Given the description of an element on the screen output the (x, y) to click on. 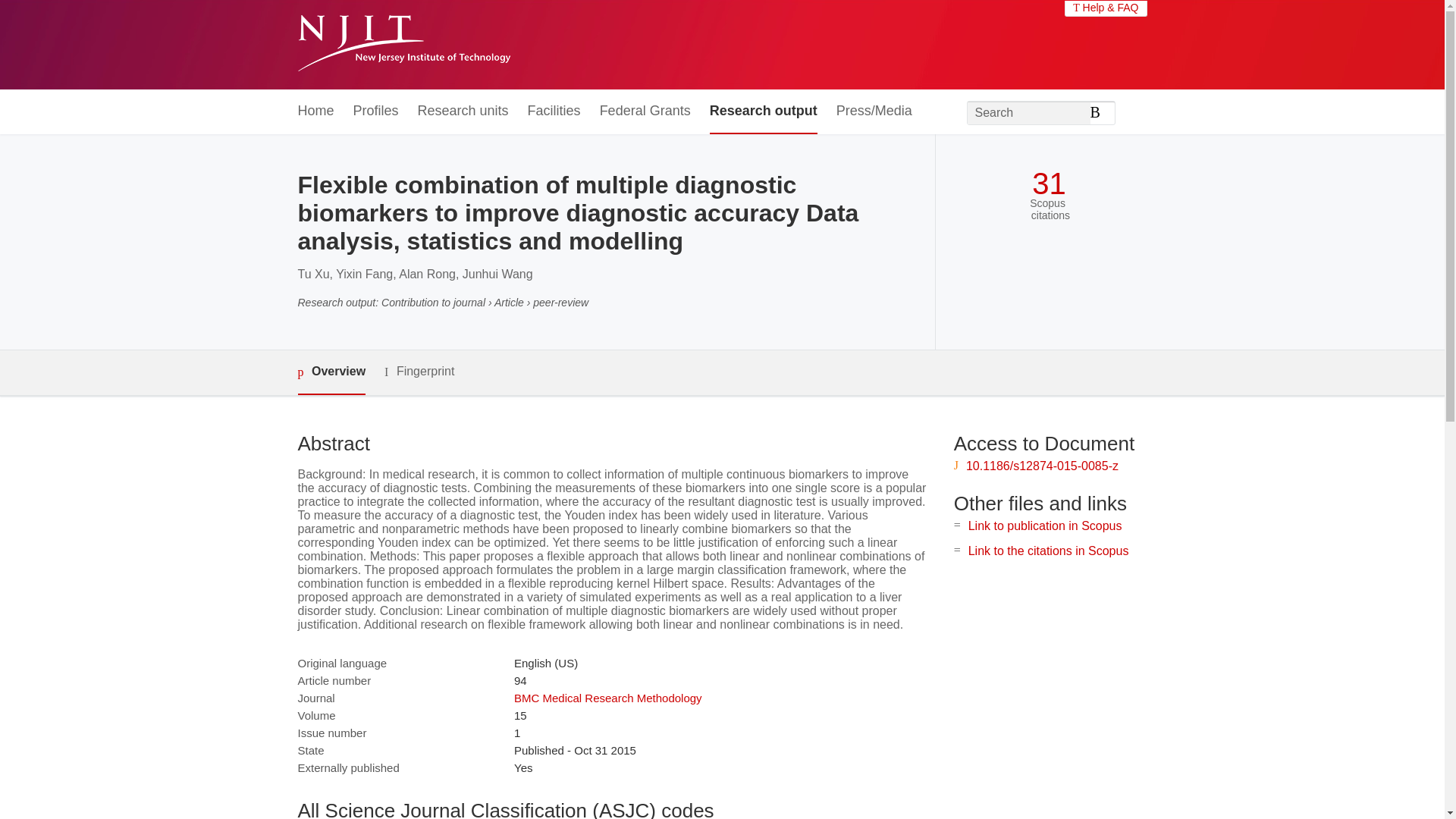
31 (1048, 183)
Research units (462, 111)
Federal Grants (644, 111)
Link to publication in Scopus (1045, 525)
Profiles (375, 111)
Facilities (553, 111)
Link to the citations in Scopus (1048, 550)
New Jersey Institute of Technology Home (403, 44)
Fingerprint (419, 371)
Research output (763, 111)
